Given the description of an element on the screen output the (x, y) to click on. 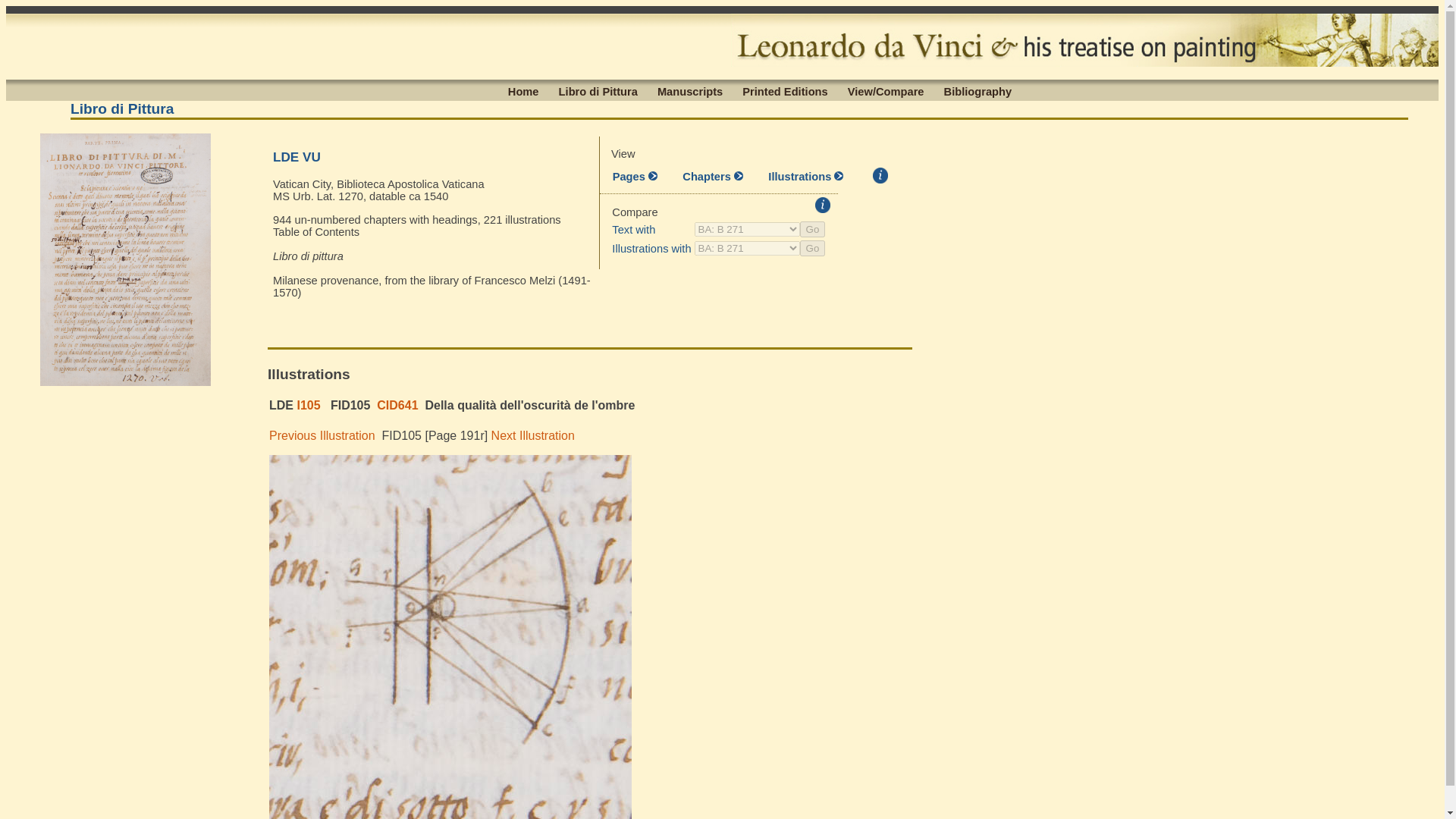
Printed Editions (784, 90)
Go (812, 229)
Libro di Pittura (598, 90)
Manuscripts (689, 90)
Chapters (712, 176)
Go (812, 229)
Pages (635, 176)
Bibliography (978, 90)
Home (523, 90)
Go (812, 248)
Illustrations (805, 176)
Go (812, 248)
